Given the description of an element on the screen output the (x, y) to click on. 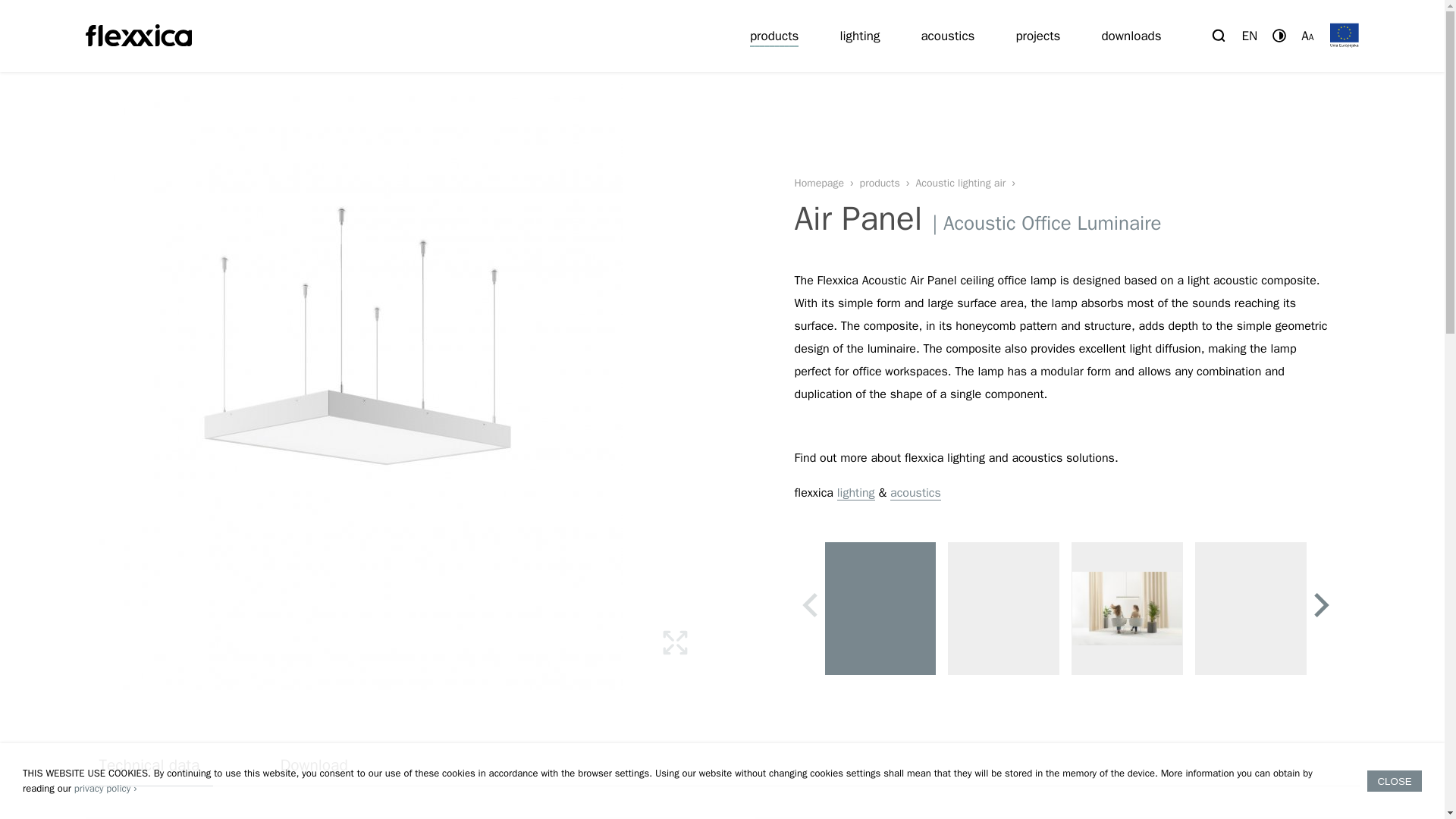
Switch contrast (1279, 35)
Change font size (1307, 35)
products (774, 36)
Change locale (1249, 35)
